Given the description of an element on the screen output the (x, y) to click on. 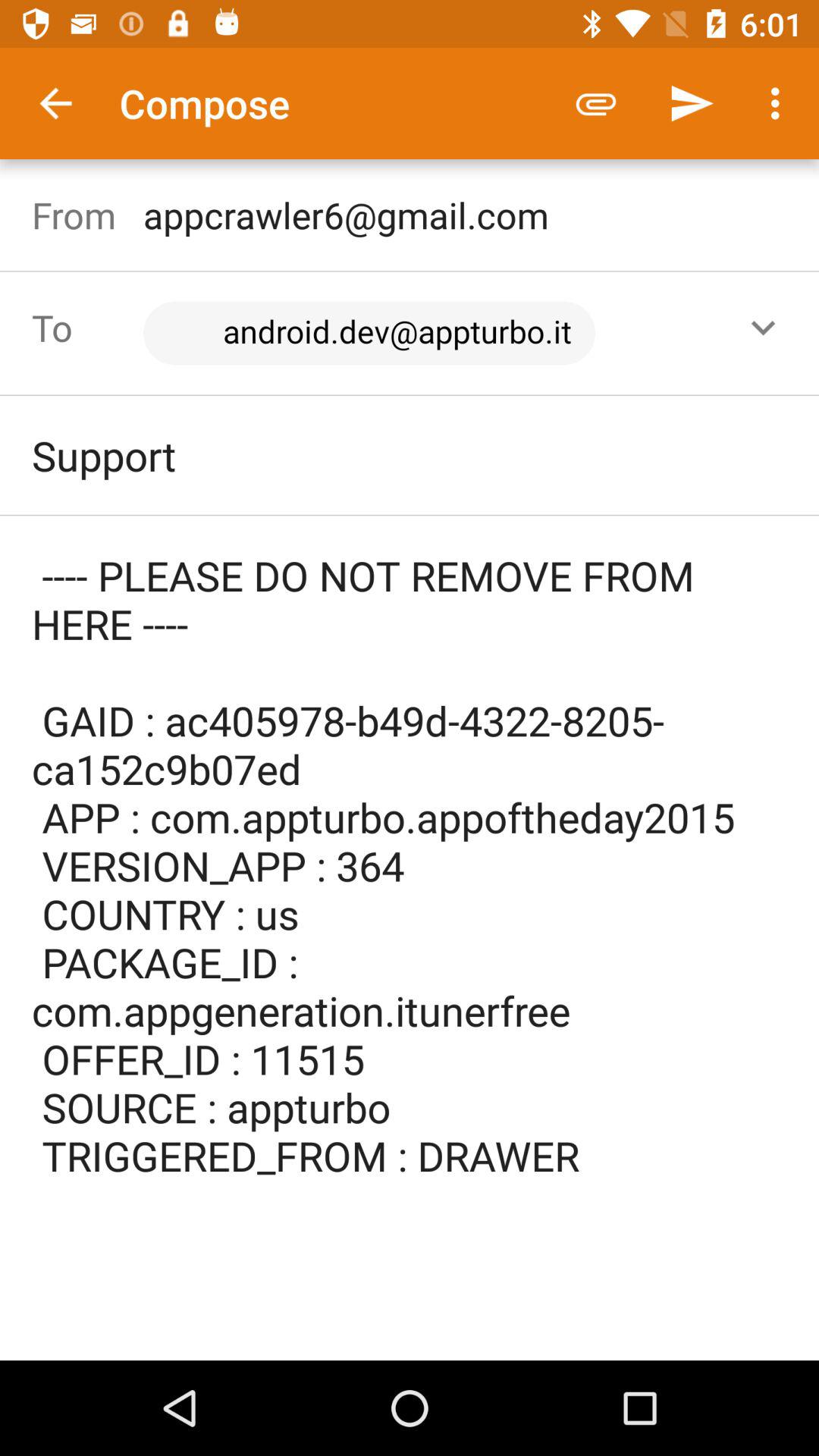
choose support item (409, 454)
